Given the description of an element on the screen output the (x, y) to click on. 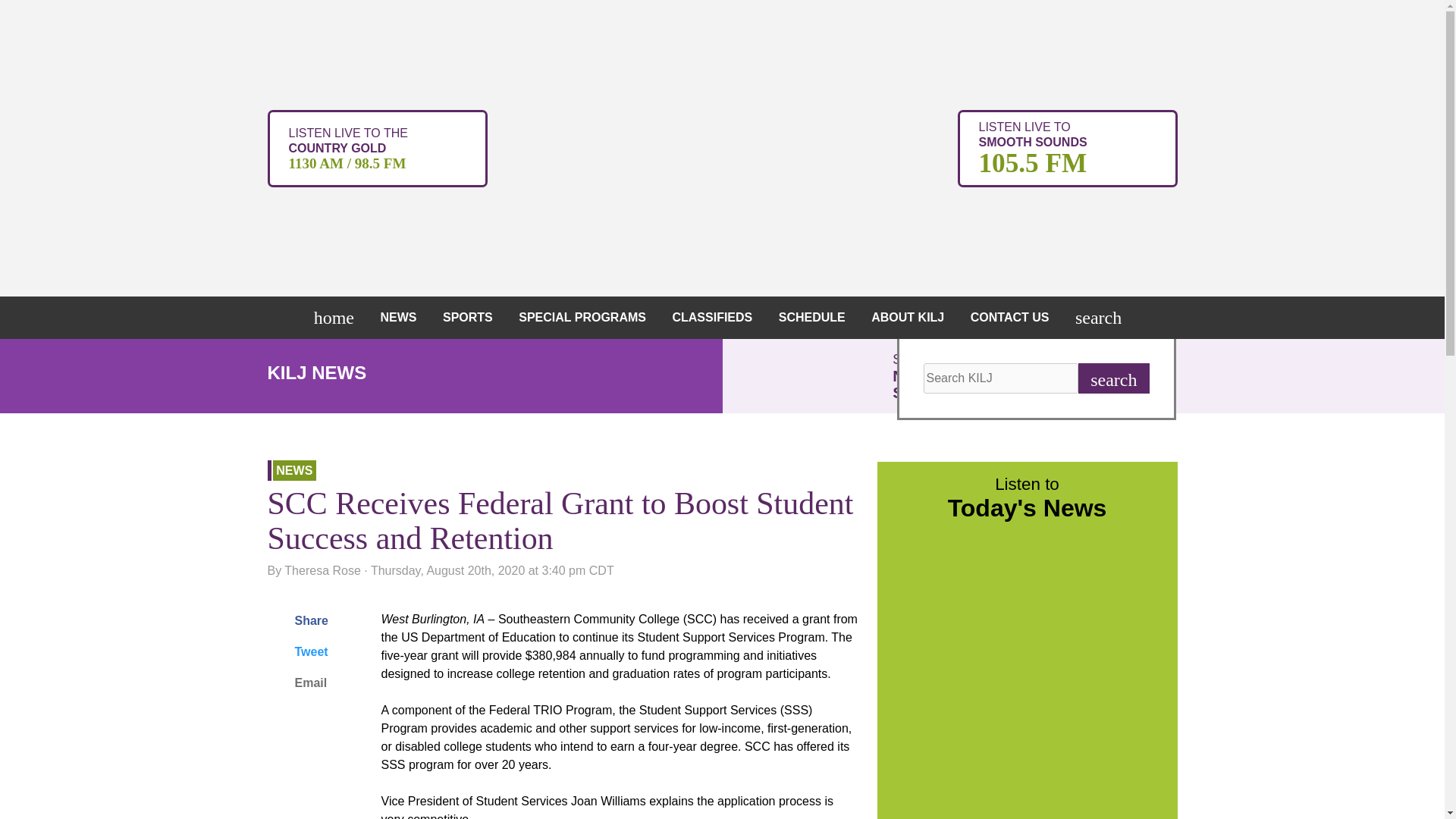
SPORTS (472, 317)
home (1066, 147)
NEWS (337, 317)
